Given the description of an element on the screen output the (x, y) to click on. 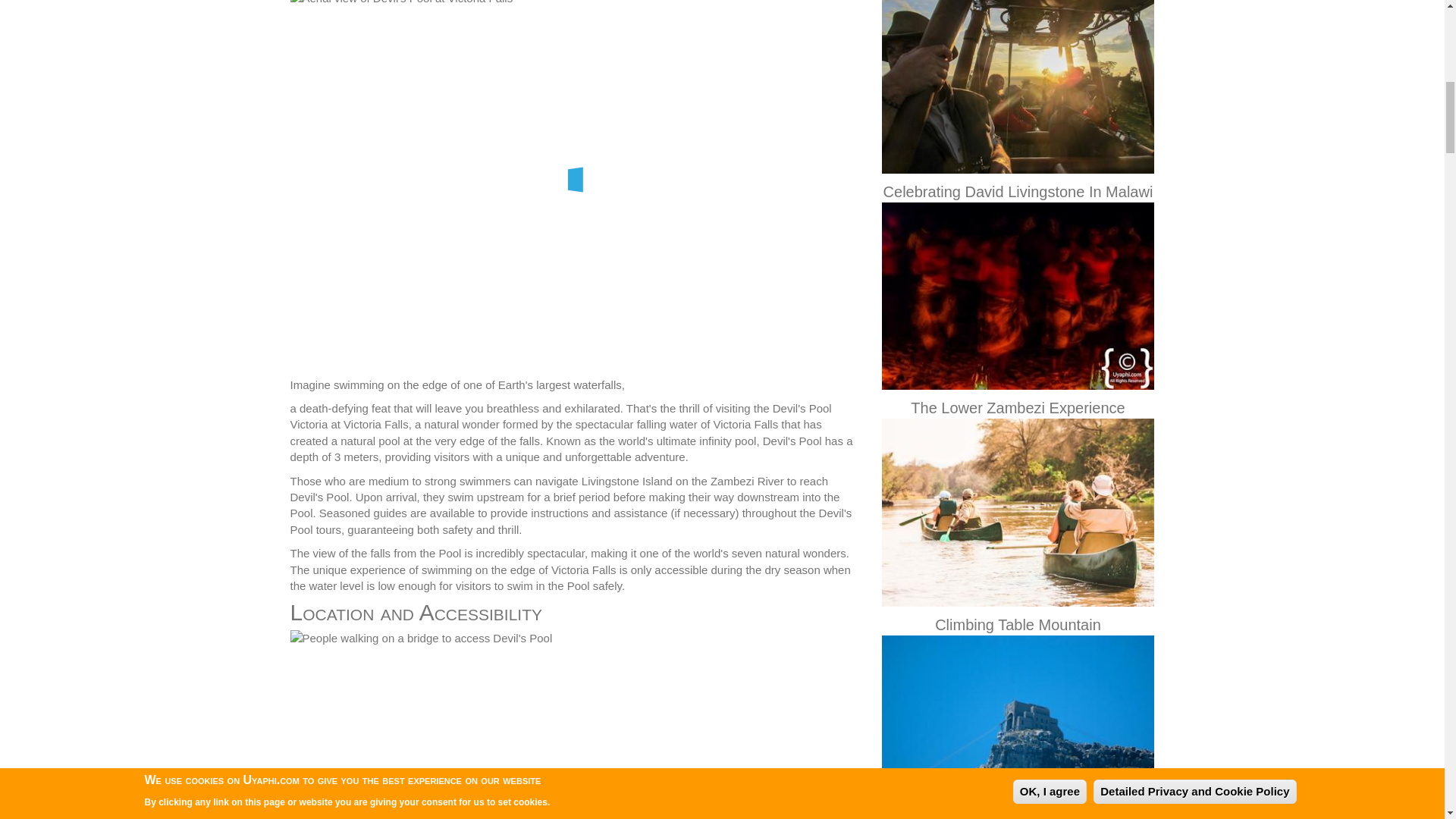
location-accessibility.jpg (574, 724)
